Given the description of an element on the screen output the (x, y) to click on. 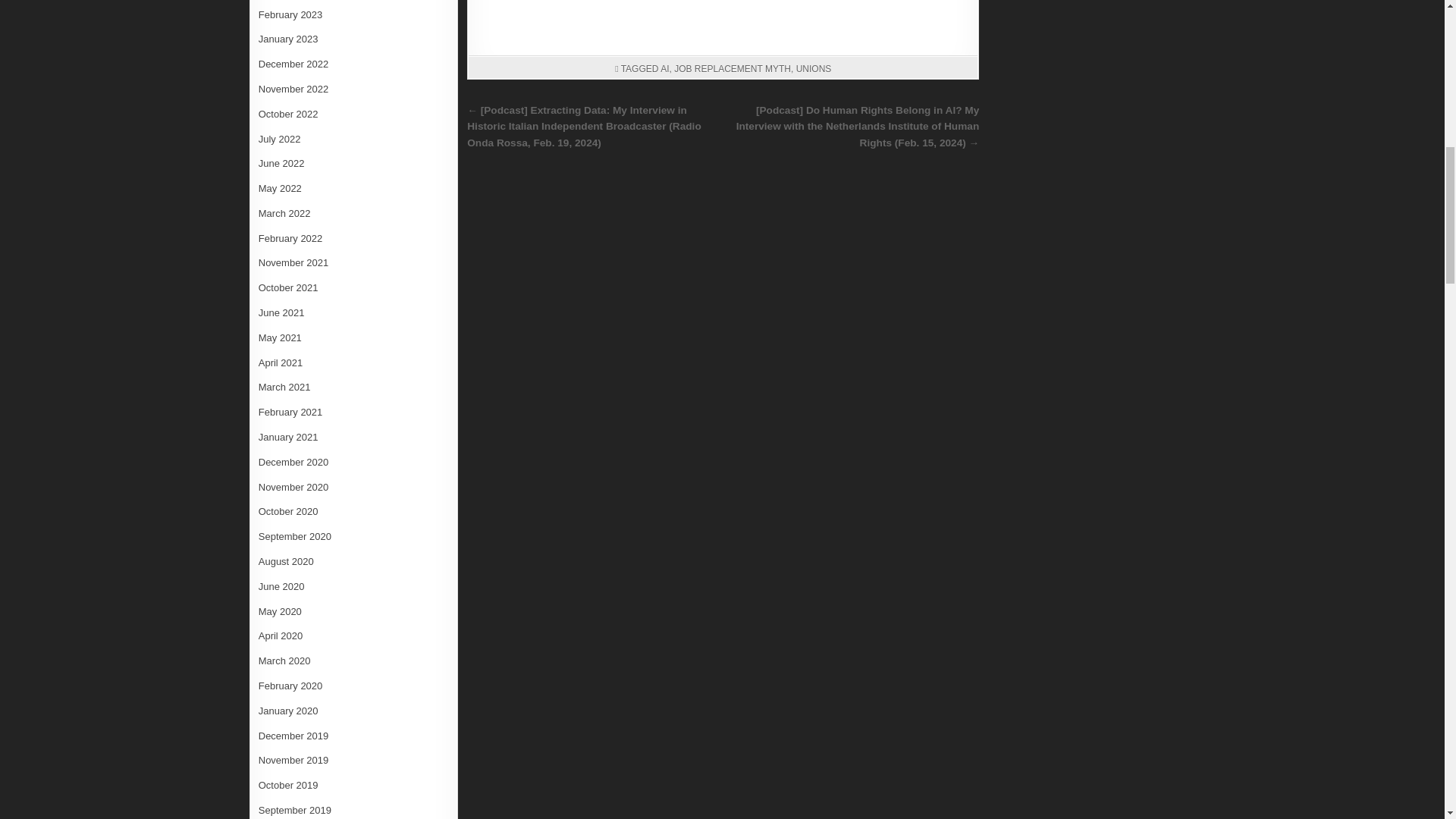
December 2022 (294, 63)
February 2023 (291, 14)
January 2023 (288, 39)
